Given the description of an element on the screen output the (x, y) to click on. 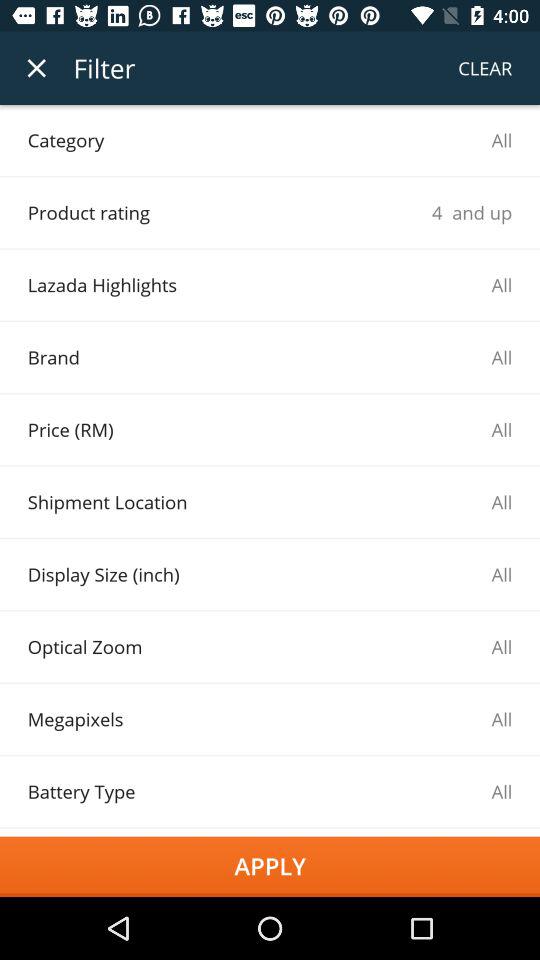
choose item above category (36, 68)
